Given the description of an element on the screen output the (x, y) to click on. 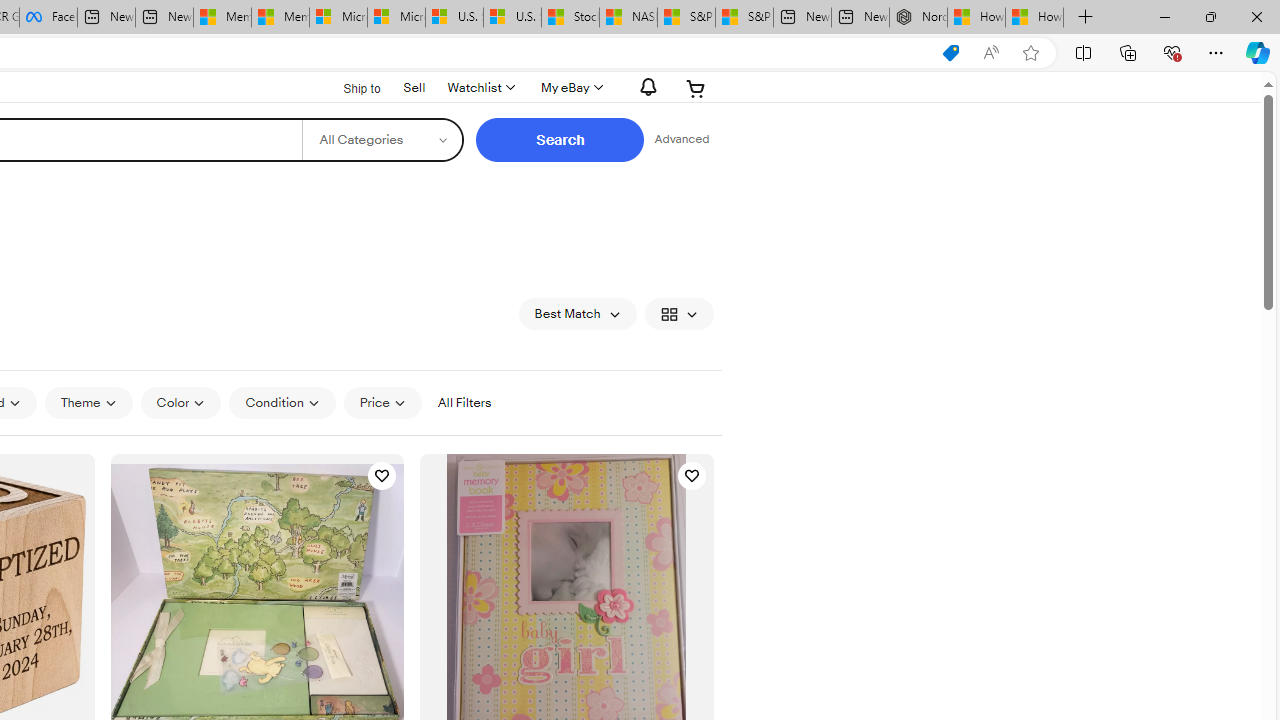
This site has coupons! Shopping in Microsoft Edge (950, 53)
WatchlistExpand Watch List (479, 88)
AutomationID: gh-eb-Alerts (645, 87)
Color (180, 402)
